Given the description of an element on the screen output the (x, y) to click on. 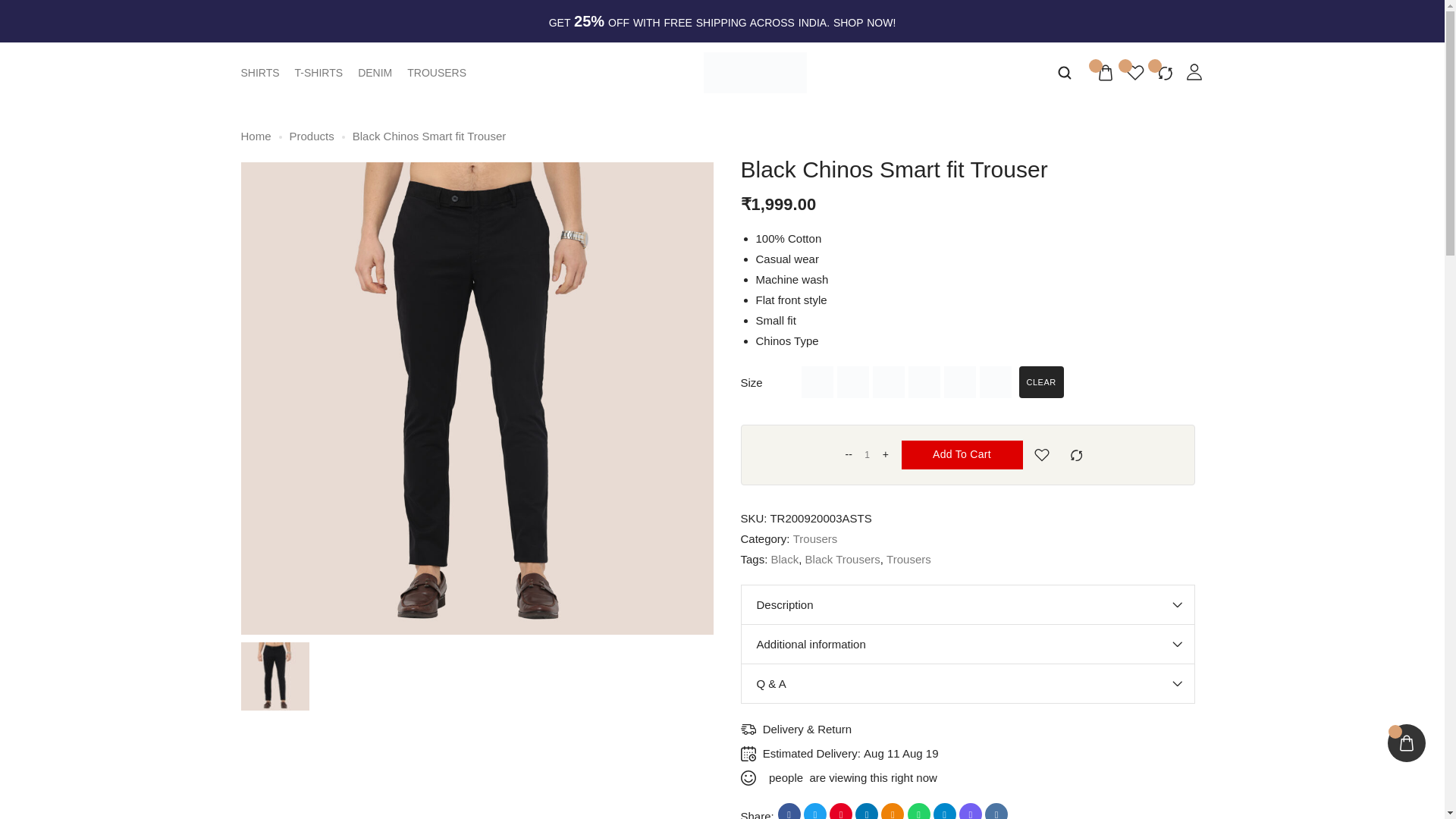
SHIRTS (260, 72)
1 (866, 454)
Trousers (815, 538)
TROUSERS (436, 72)
CLEAR (1041, 382)
Add To Cart (961, 454)
Products (311, 136)
T-SHIRTS (319, 72)
SHOP NOW (862, 22)
Qty (866, 454)
